Given the description of an element on the screen output the (x, y) to click on. 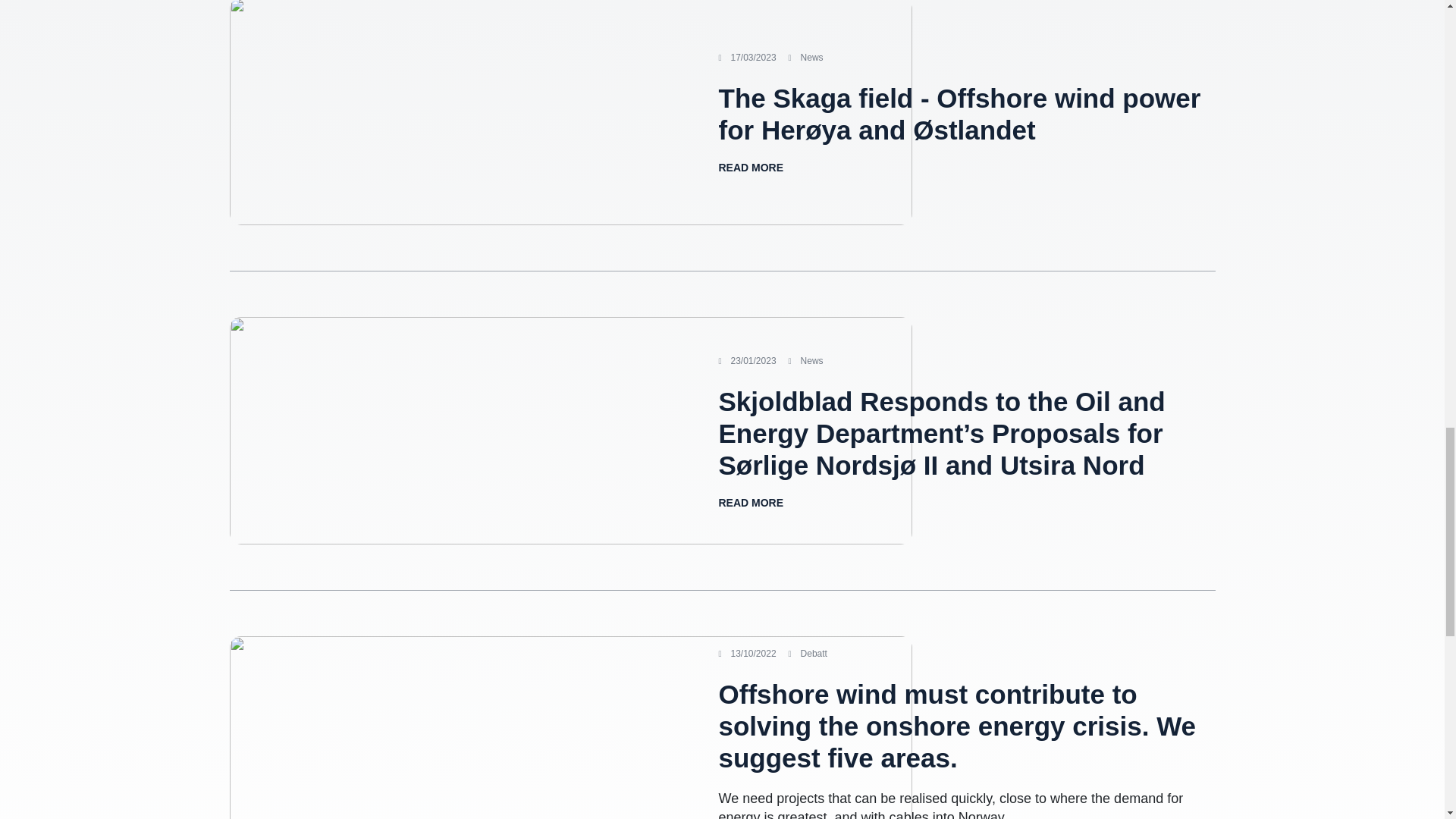
READ MORE (751, 502)
READ MORE (751, 167)
